Given the description of an element on the screen output the (x, y) to click on. 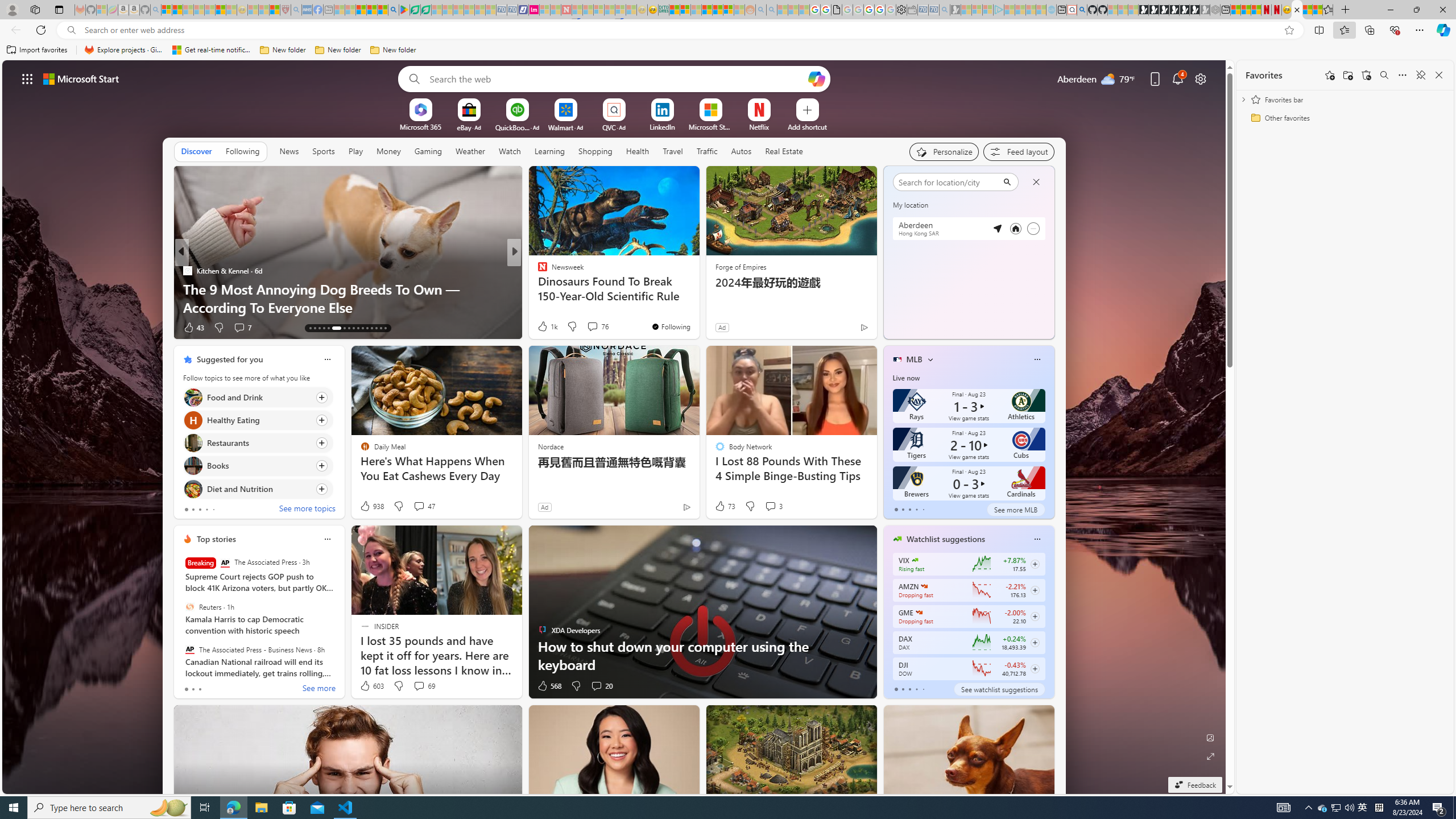
603 Like (370, 685)
Restore deleted favorites (1366, 74)
Books (192, 466)
Class: follow-button  m (1034, 668)
51 Like (543, 327)
Class: icon-img (1037, 538)
